Given the description of an element on the screen output the (x, y) to click on. 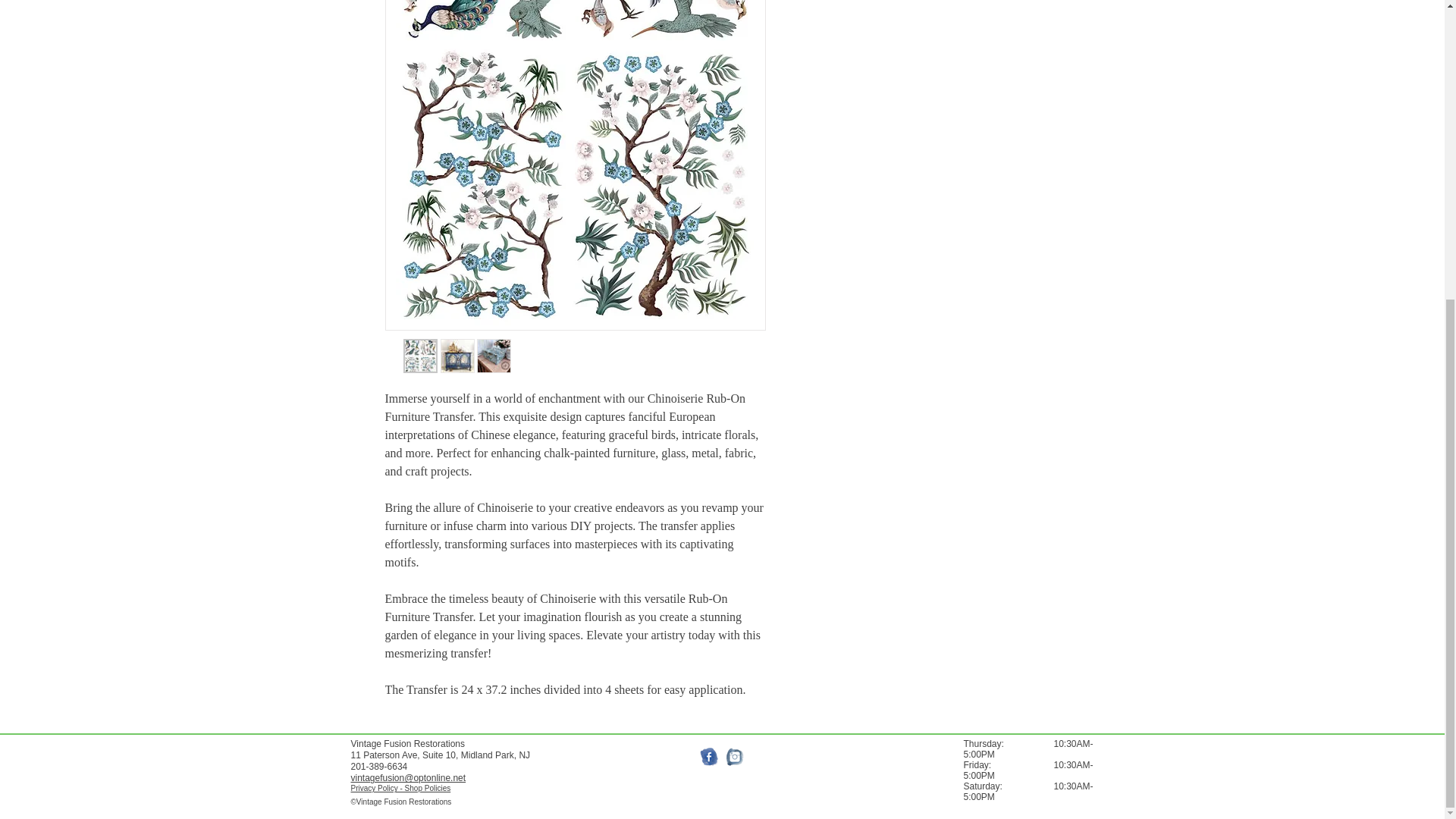
Privacy Policy - Shop Policies (399, 787)
